Given the description of an element on the screen output the (x, y) to click on. 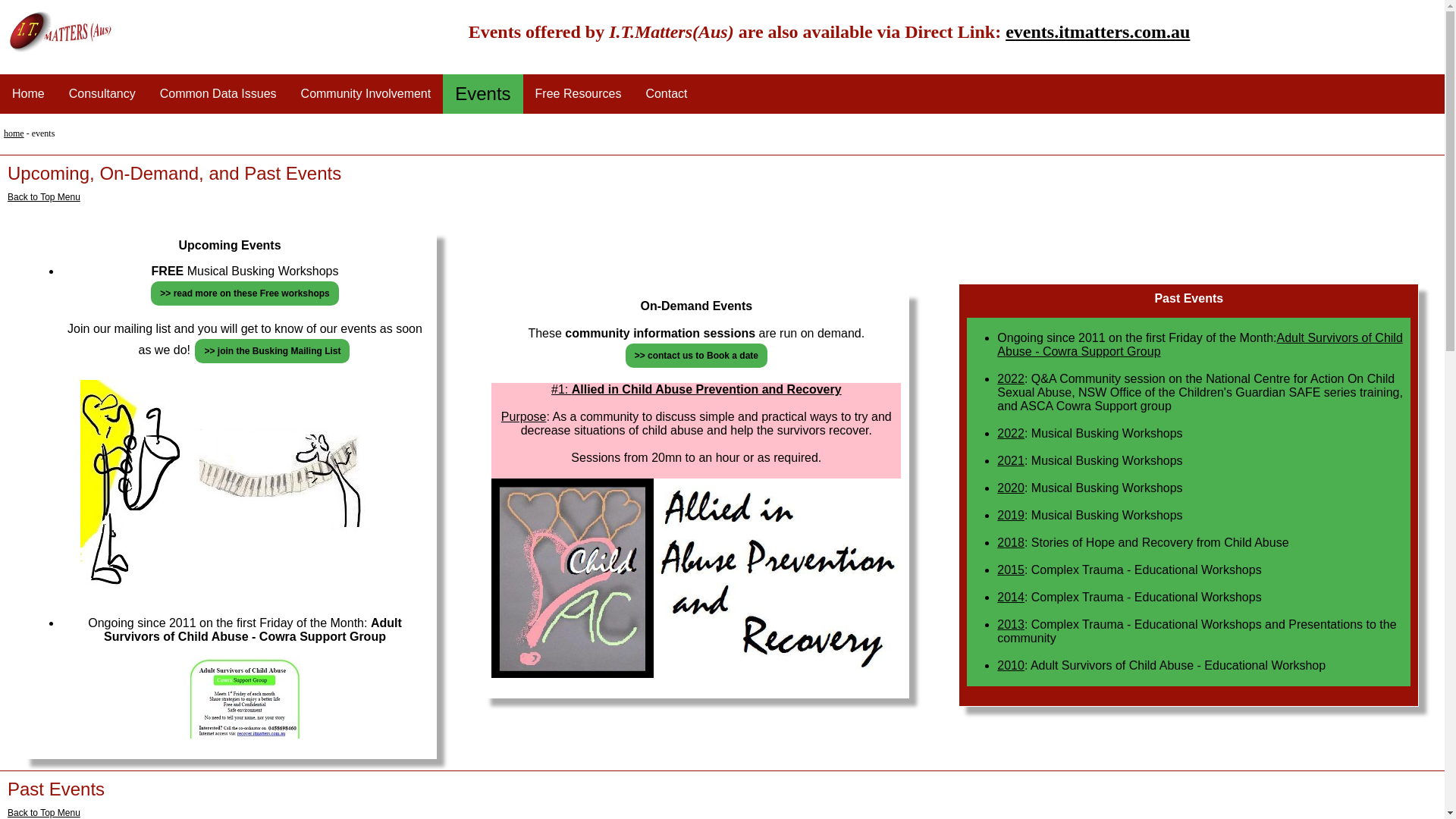
Back to Top Menu Element type: text (43, 196)
2022 Element type: text (1010, 432)
Free Resources Element type: text (578, 93)
events.itmatters.com.au Element type: text (1097, 30)
#1: Allied in Child Abuse Prevention and Recovery Element type: text (696, 388)
2020 Element type: text (1010, 486)
2010 Element type: text (1010, 664)
2014 Element type: text (1010, 595)
FREE Musical Busking Workshops Element type: text (244, 270)
Contact Element type: text (666, 93)
>> contact us to Book a date Element type: text (696, 355)
home Element type: text (13, 133)
Adult Survivors of Child Abuse - Cowra Support Group Element type: text (1199, 343)
2019 Element type: text (1010, 514)
Events Element type: text (482, 93)
Common Data Issues Element type: text (217, 93)
>> join the Busking Mailing List Element type: text (271, 350)
2018 Element type: text (1010, 541)
2015 Element type: text (1010, 568)
Home Element type: text (28, 93)
2022 Element type: text (1010, 377)
Community Involvement Element type: text (365, 93)
Back to Top Menu Element type: text (43, 812)
2021 Element type: text (1010, 459)
Consultancy Element type: text (101, 93)
>> read more on these Free workshops Element type: text (244, 293)
2013 Element type: text (1010, 623)
